Given the description of an element on the screen output the (x, y) to click on. 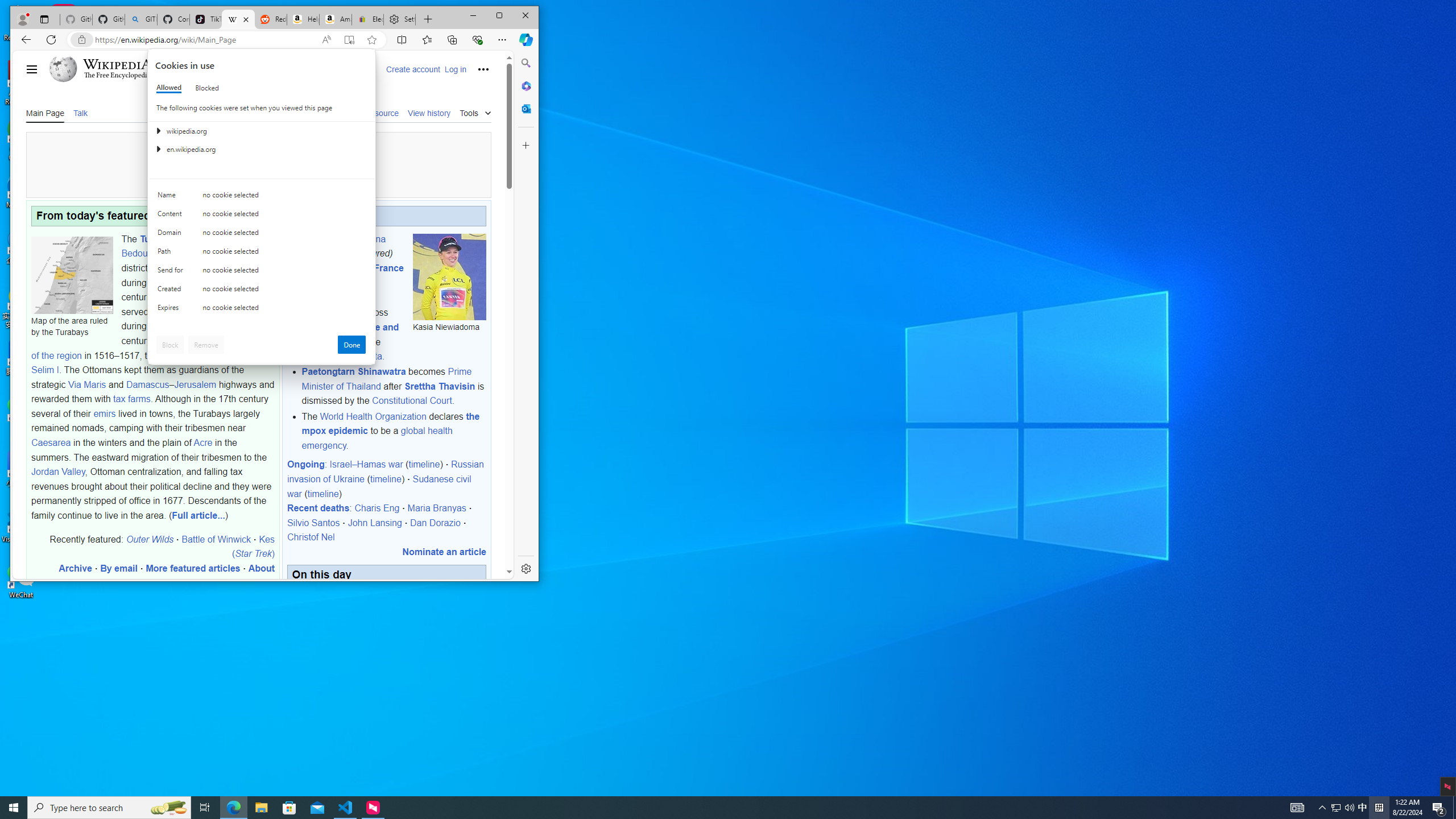
Notification Chevron (1322, 807)
Q2790: 100% (1349, 807)
Expires (172, 310)
Task View (204, 807)
